Given the description of an element on the screen output the (x, y) to click on. 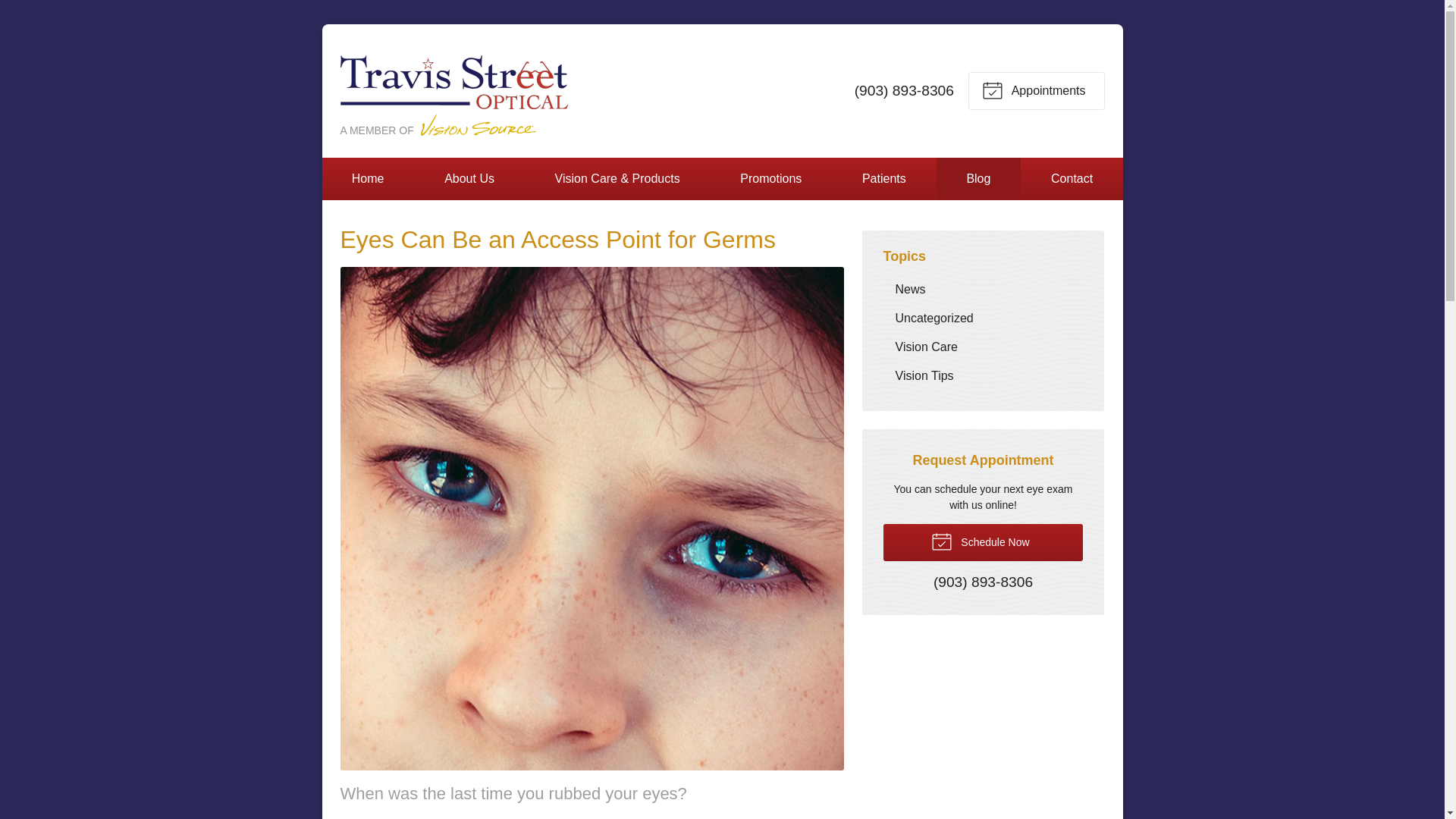
A MEMBER OF VISION SOURCE (453, 90)
Call practice (982, 582)
Home (367, 178)
Request Appointment (1035, 90)
Uncategorized (982, 317)
Vision Tips (982, 375)
Patients (884, 178)
Travis Street Optical (453, 90)
Promotions (770, 178)
News (982, 289)
Schedule Now (982, 542)
About Us (469, 178)
Blog (978, 178)
Vision Care (982, 346)
